Given the description of an element on the screen output the (x, y) to click on. 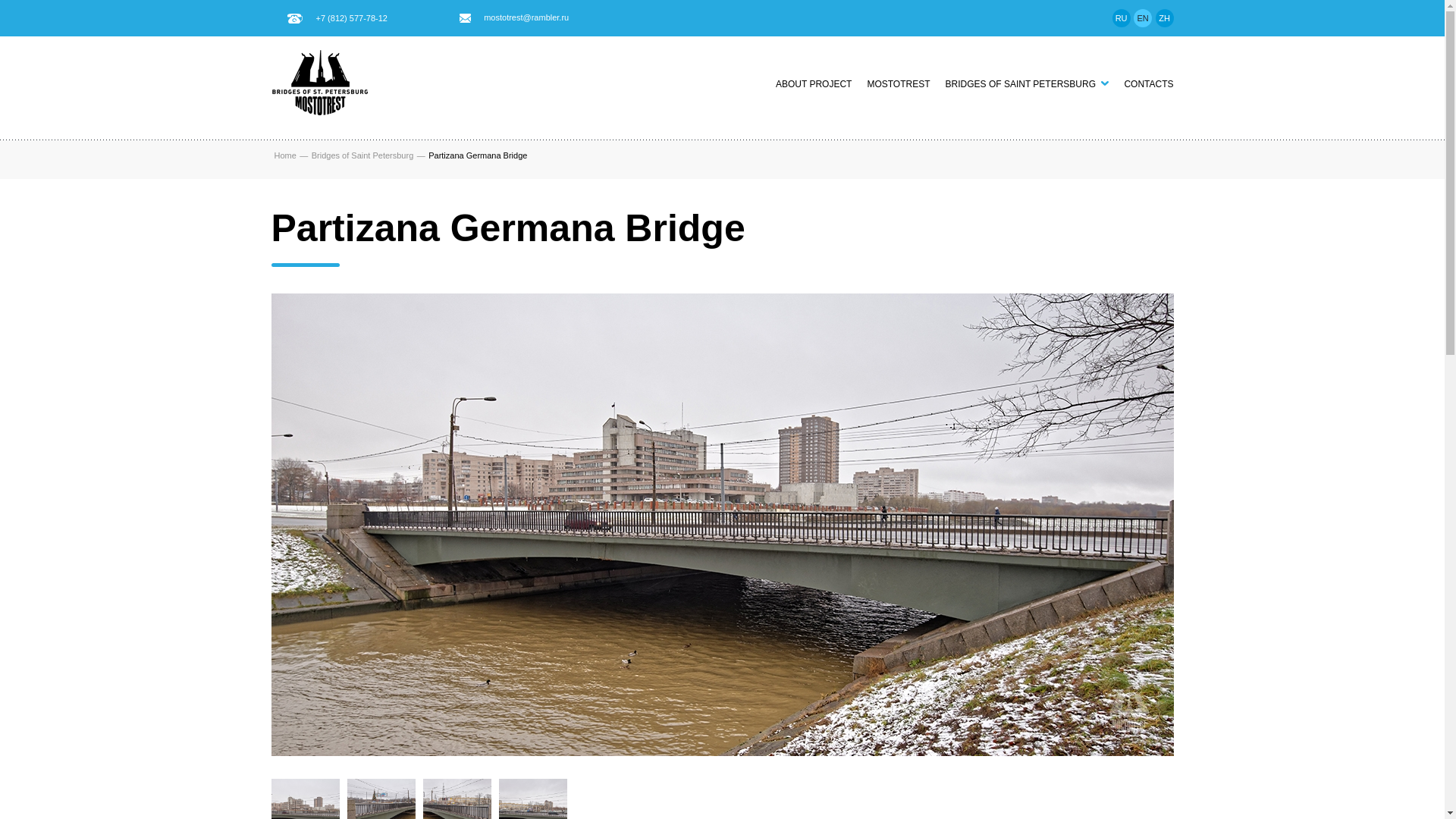
RU (1121, 18)
ABOUT PROJECT (813, 83)
MOSTOTREST (898, 83)
Home (286, 154)
ZH (1164, 18)
CONTACTS (1148, 83)
EN (1142, 18)
Bridges of Saint Petersburg (362, 154)
